Given the description of an element on the screen output the (x, y) to click on. 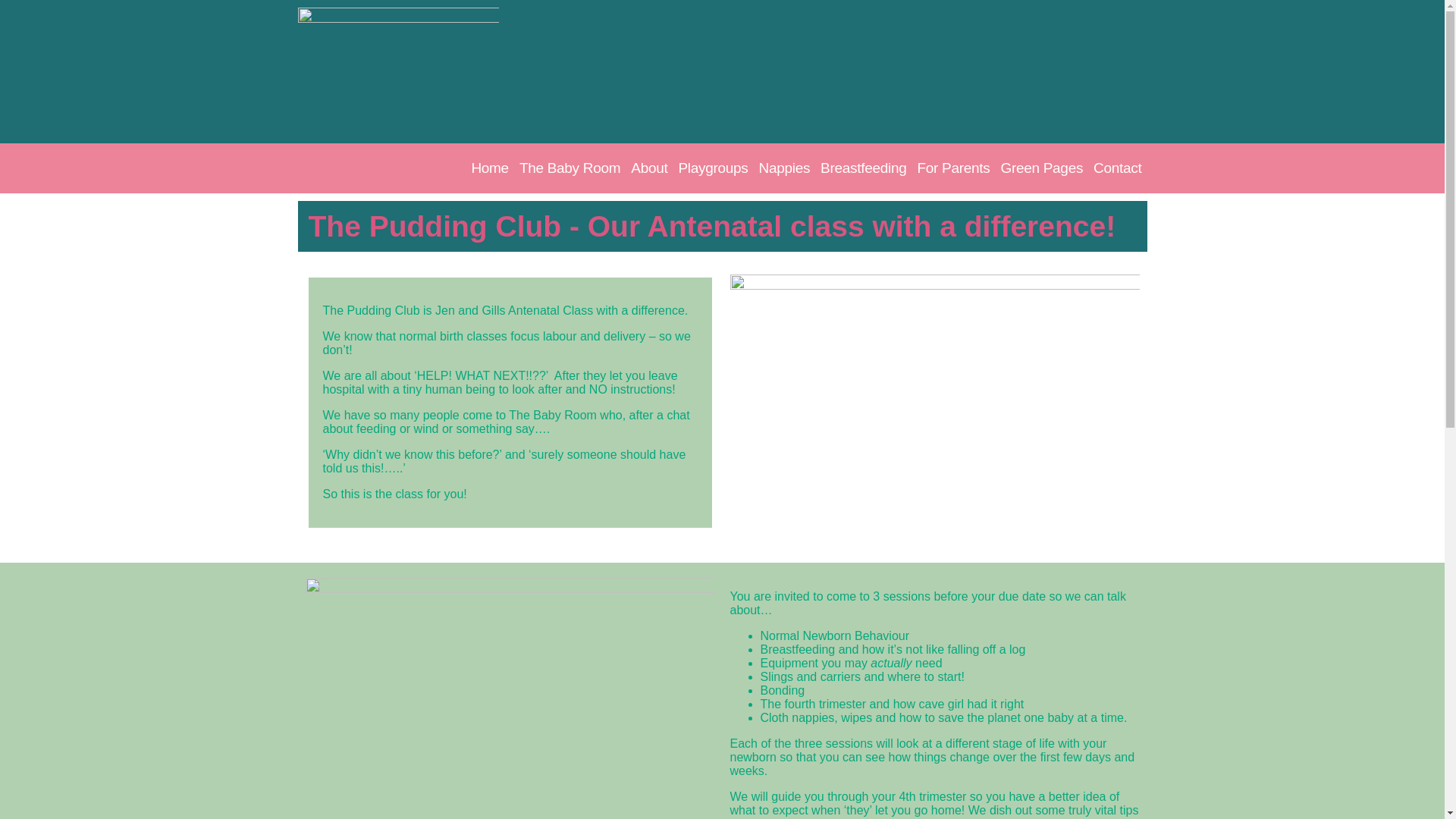
For Parents (952, 167)
About (649, 167)
Playgroups (712, 167)
Home (489, 167)
The Baby Room (569, 167)
Green Pages (1040, 167)
Breastfeeding (863, 167)
Contact (1117, 167)
Nappies (783, 167)
